Given the description of an element on the screen output the (x, y) to click on. 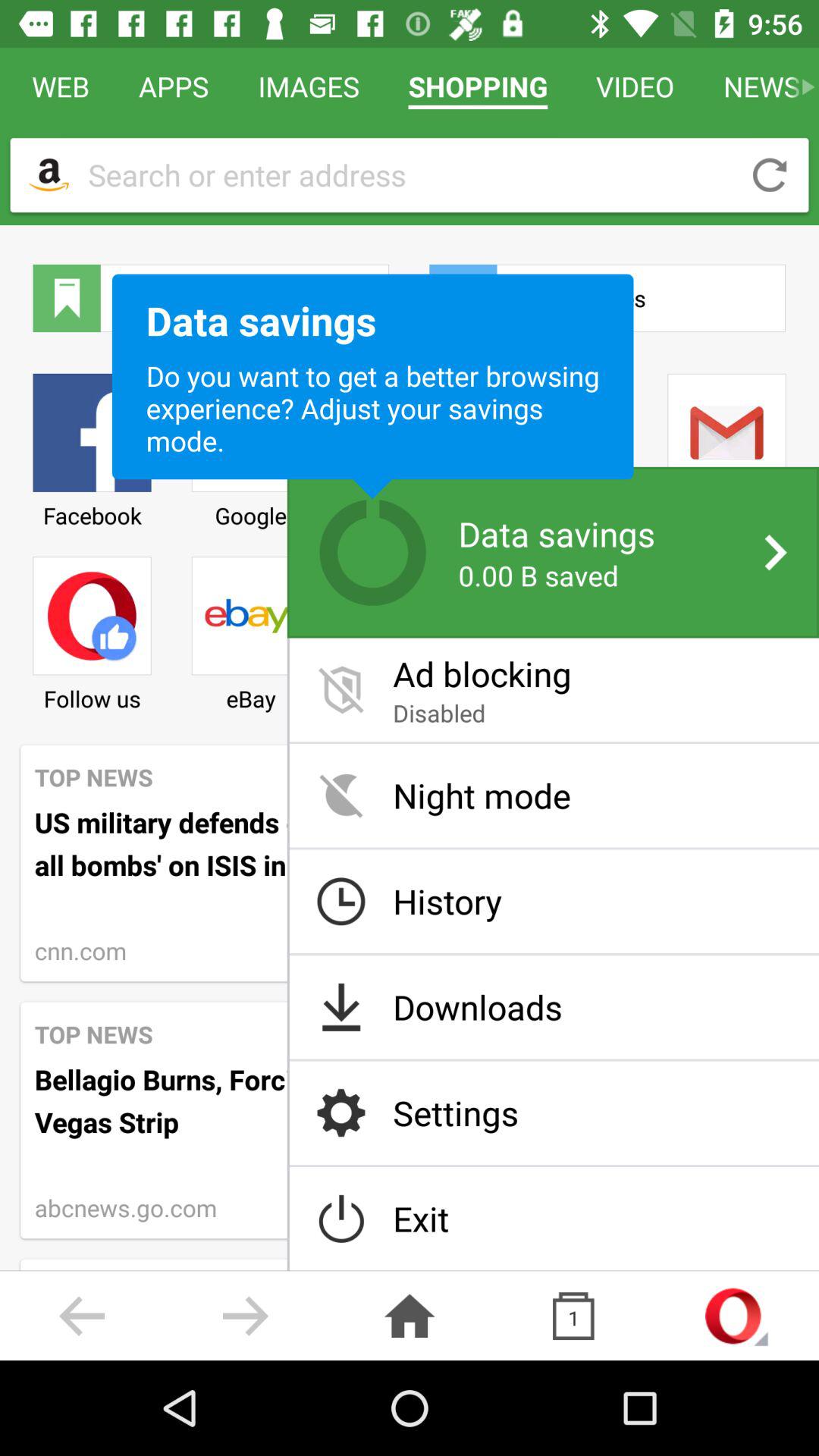
select the text right to web at top left of the page (173, 86)
select the opera logo on the bottom right corner of the web page (737, 1315)
select the text above history (554, 795)
click on download icon left to downloads (341, 1007)
